Given the description of an element on the screen output the (x, y) to click on. 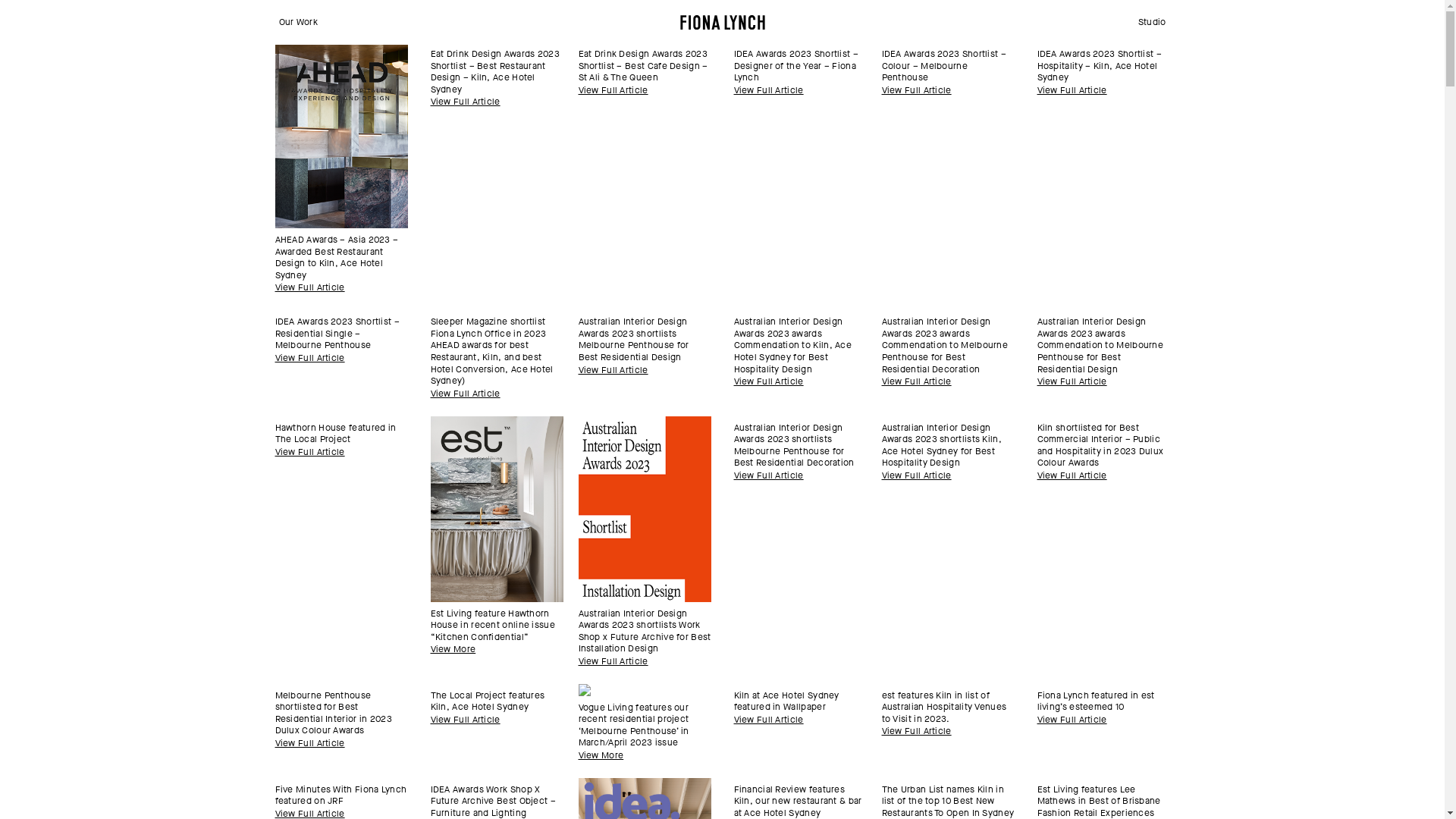
View Full Article Element type: text (309, 357)
View Full Article Element type: text (465, 393)
View Full Article Element type: text (1072, 90)
View Full Article Element type: text (915, 730)
View More Element type: text (453, 649)
View Full Article Element type: text (1072, 381)
View Full Article Element type: text (1072, 475)
View Full Article Element type: text (309, 287)
View Full Article Element type: text (915, 381)
Studio Element type: text (1152, 21)
View Full Article Element type: text (465, 719)
View Full Article Element type: text (612, 370)
View More Element type: text (600, 755)
View Full Article Element type: text (309, 743)
View Full Article Element type: text (612, 661)
View Full Article Element type: text (465, 101)
View Full Article Element type: text (768, 719)
View Full Article Element type: text (309, 451)
View Full Article Element type: text (768, 381)
View Full Article Element type: text (915, 475)
View Full Article Element type: text (915, 90)
View Full Article Element type: text (768, 90)
View Full Article Element type: text (768, 475)
Our Work Element type: text (298, 21)
View Full Article Element type: text (1072, 719)
View Full Article Element type: text (612, 90)
